Given the description of an element on the screen output the (x, y) to click on. 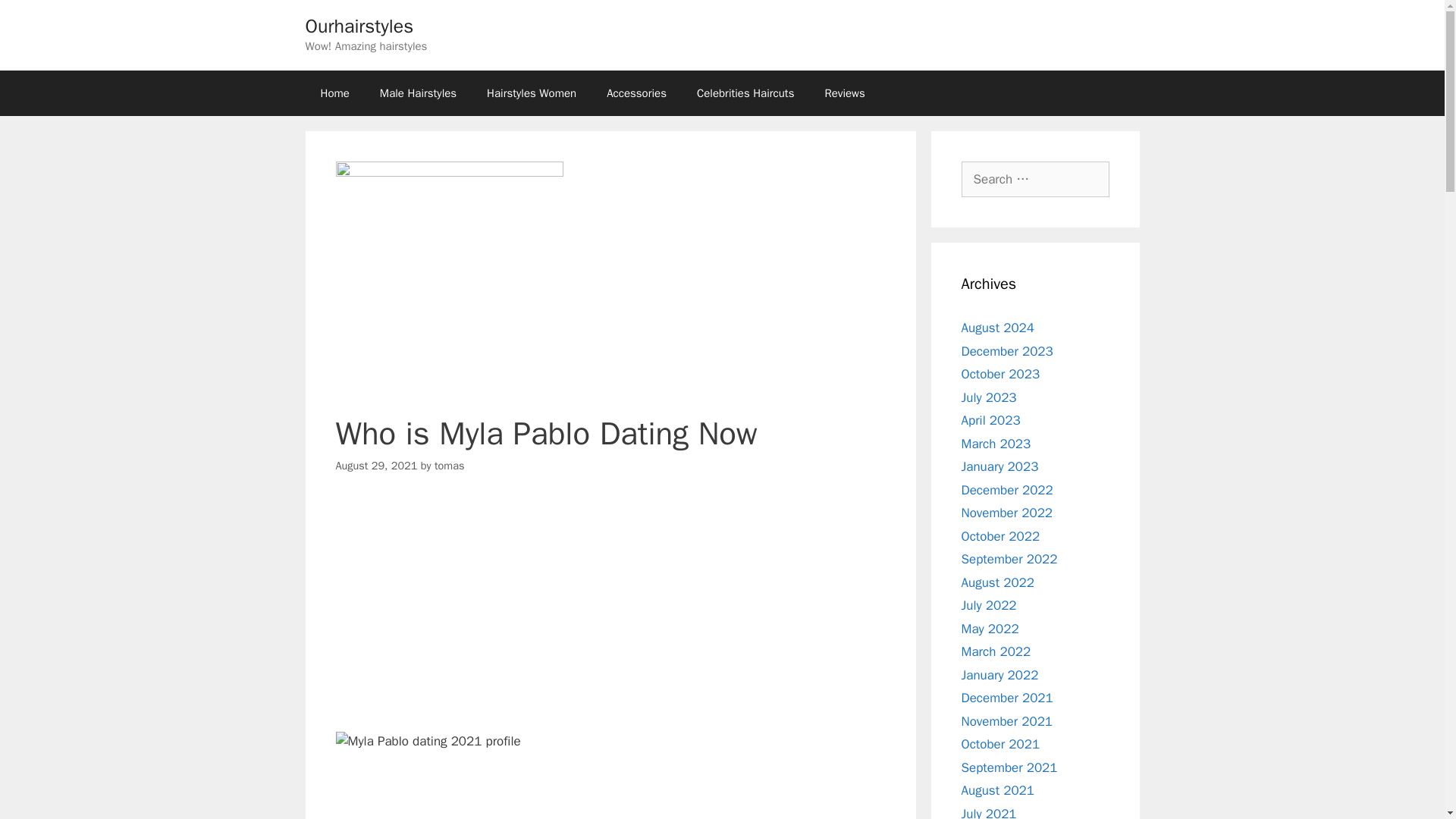
January 2022 (999, 675)
October 2022 (1000, 535)
April 2023 (990, 420)
March 2023 (995, 442)
December 2023 (1006, 350)
Search (35, 18)
October 2021 (1000, 744)
August 2024 (996, 327)
December 2022 (1006, 489)
Hairstyles Women (531, 92)
